Given the description of an element on the screen output the (x, y) to click on. 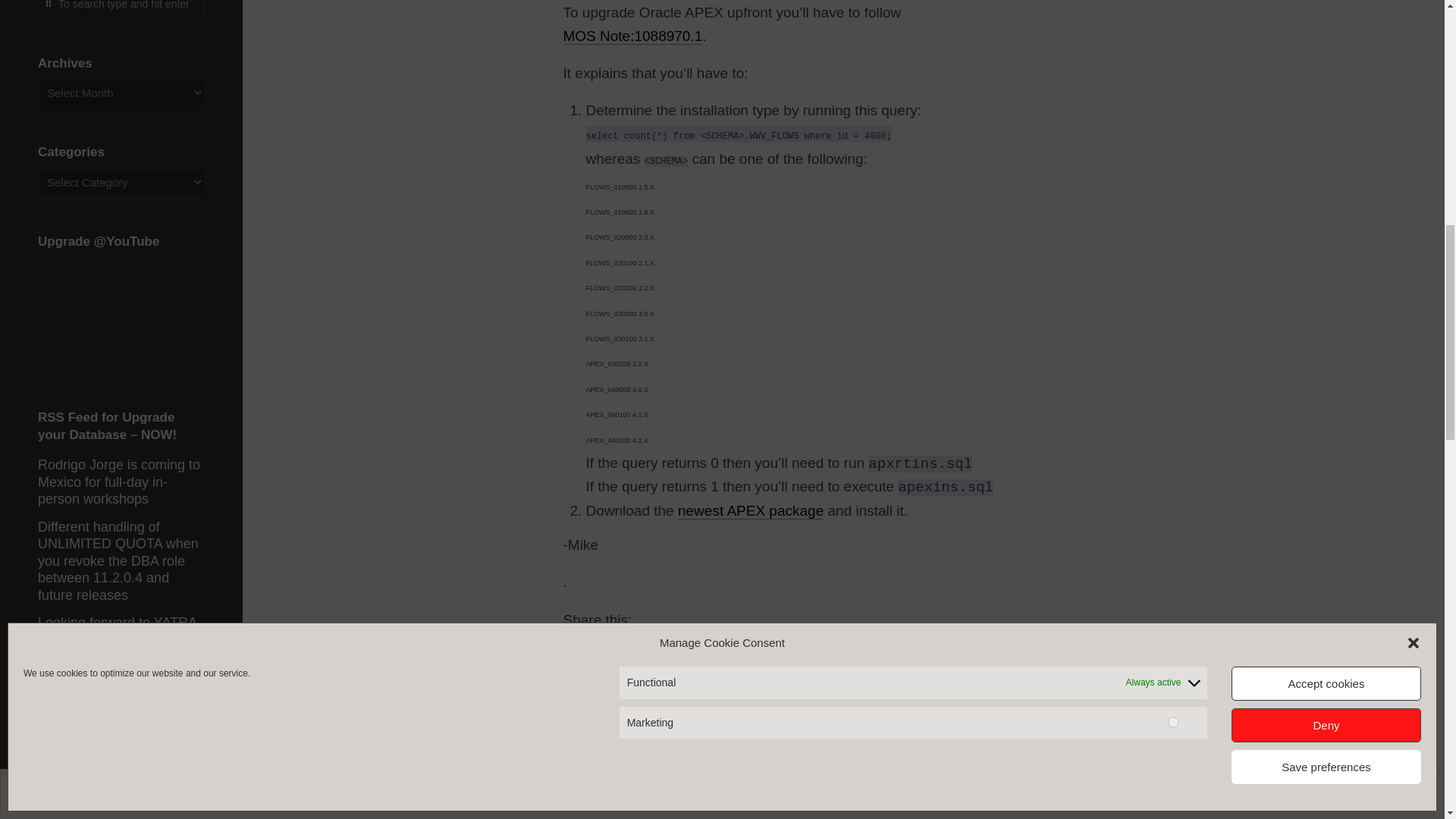
Share on LinkedIn (629, 644)
Upgrade downtime credited to APEX (657, 768)
Upgrade downtime credited to APEX (623, 733)
APEX Upgrade MOS Note (631, 35)
Share on X (576, 644)
Share on Facebook (601, 644)
To search type and hit enter (121, 8)
APEX Package Download (751, 510)
To search type and hit enter (121, 8)
Send by email (655, 644)
